Given the description of an element on the screen output the (x, y) to click on. 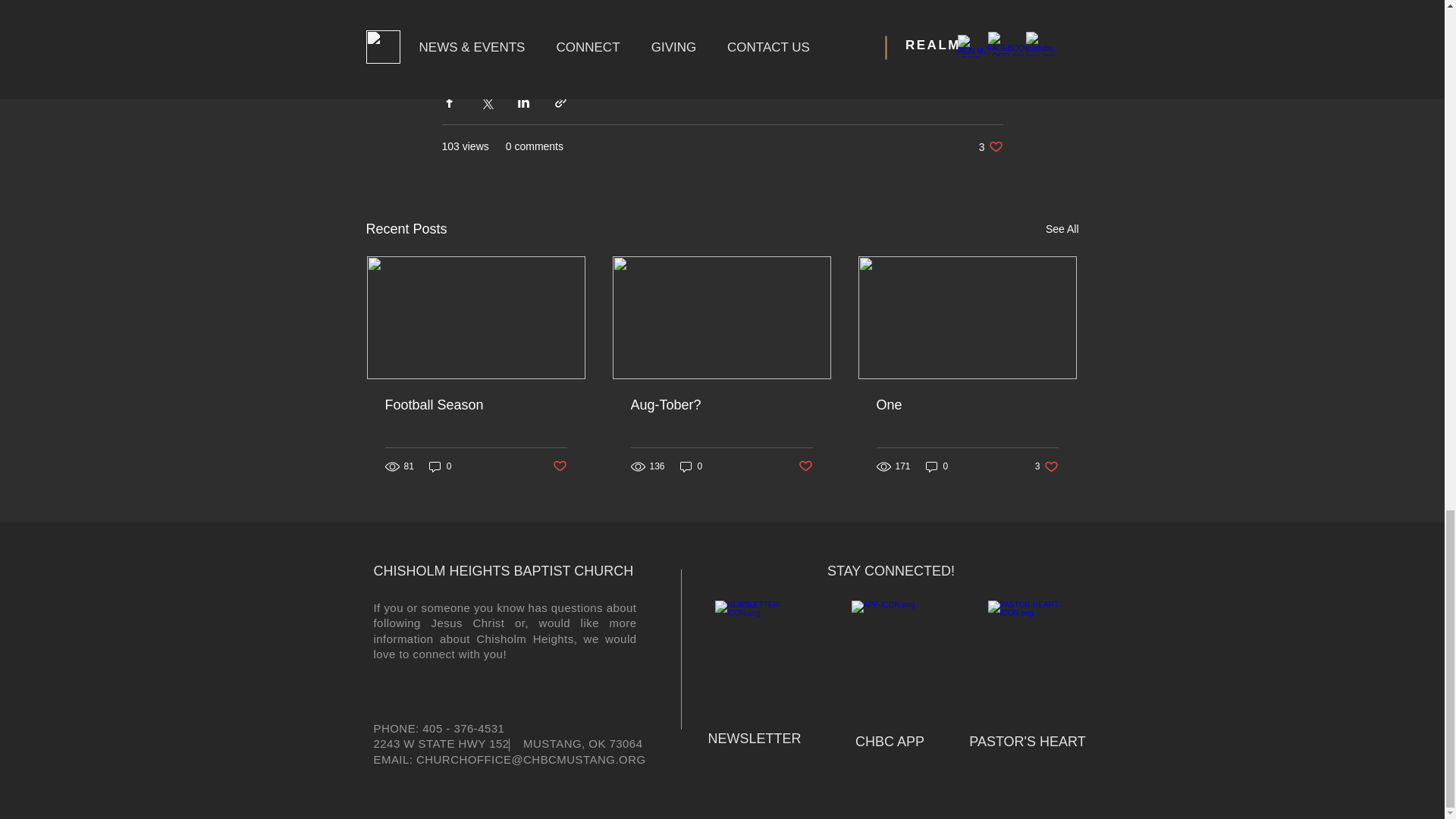
0 (440, 465)
Football Season (476, 405)
0 (691, 465)
Post not marked as liked (990, 146)
Aug-Tober? (558, 466)
See All (721, 405)
